Given the description of an element on the screen output the (x, y) to click on. 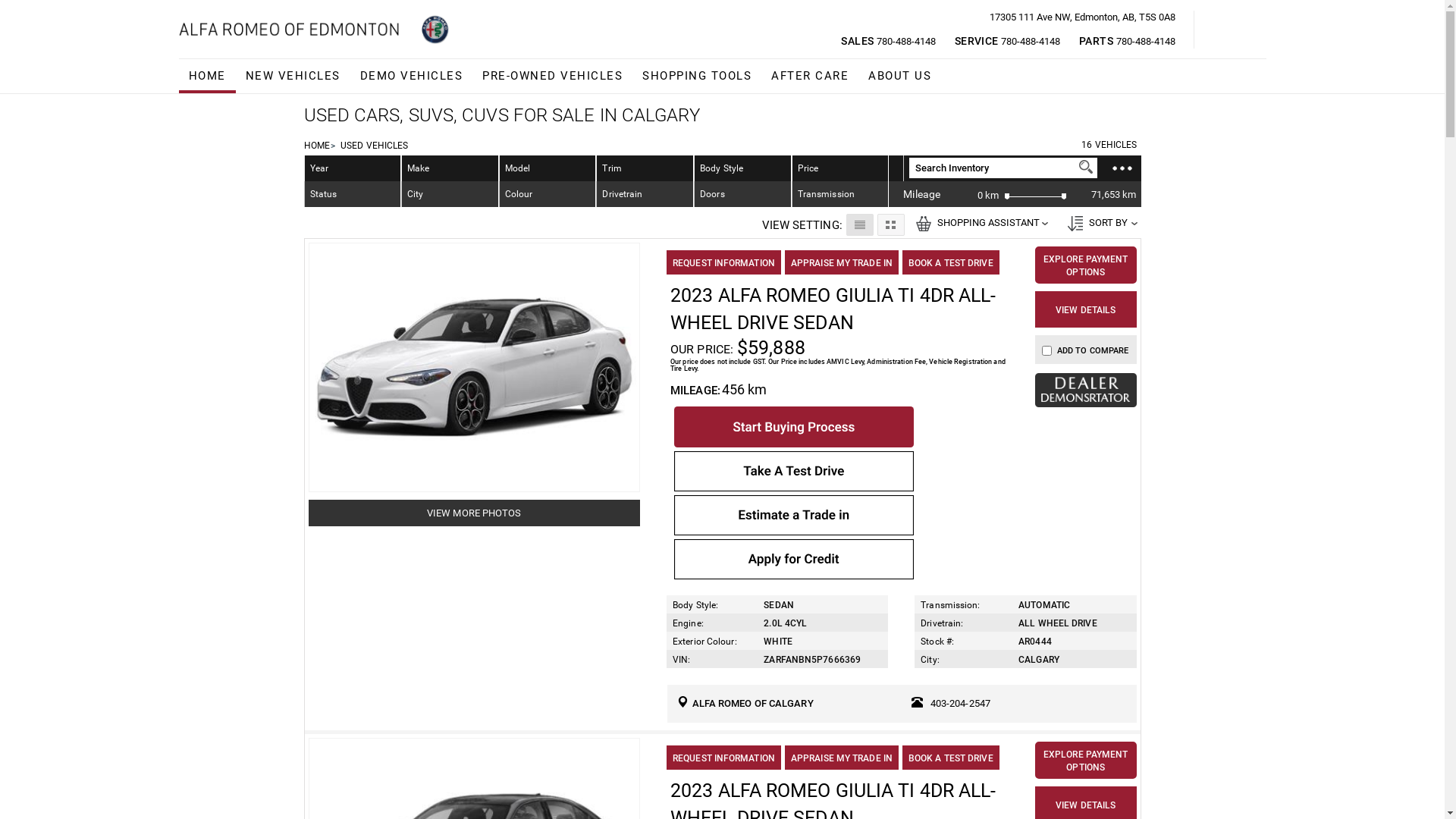
SALES 780-488-4148 Element type: text (887, 41)
https://www.facebook.com/AlfaRomeoEdmonton/ Element type: text (1220, 31)
SHOPPING ASSISTANT Element type: text (979, 222)
Grid View Element type: hover (890, 224)
Body Style Element type: text (742, 168)
VIEW MORE PHOTOS Element type: text (473, 512)
17305 111 Ave NW,
Edmonton, AB, T5S 0A8 Element type: text (428, 82)
unchecked Element type: text (1046, 350)
Search Element type: hover (1085, 166)
PRE-OWNED VEHICLES Element type: text (552, 76)
https://www.instagram.com/alfaromeoedmonton/ Element type: text (1238, 31)
APPRAISE MY TRADE IN Element type: text (841, 262)
AFTER CARE Element type: text (809, 76)
Price Element type: text (808, 168)
APPRAISE MY TRADE IN Element type: text (841, 757)
Model Element type: text (547, 168)
Shopping Assistant Element type: hover (923, 223)
DEMO VEHICLES Element type: text (411, 76)
Status Element type: text (352, 194)
Listing View Element type: hover (859, 224)
VIEW DETAILS Element type: text (1085, 309)
Doors Element type: text (742, 194)
SORT BY Element type: text (1099, 222)
17305 111 Ave NW,
Edmonton, AB, T5S 0A8 Element type: text (1081, 17)
Colour Element type: text (547, 194)
Trim Element type: text (644, 168)
NEW VEHICLES Element type: text (292, 76)
ABOUT US Element type: text (899, 76)
REQUEST INFORMATION Element type: text (723, 757)
REQUEST INFORMATION Element type: text (723, 262)
Transmission Element type: text (840, 194)
403-204-2547 Element type: text (960, 703)
SERVICE 780-488-4148 Element type: text (1007, 41)
SHOPPING TOOLS Element type: text (696, 76)
Make Element type: text (449, 168)
EXPLORE PAYMENT OPTIONS Element type: text (1085, 759)
EXPLORE PAYMENT OPTIONS Element type: text (1085, 264)
BOOK A TEST DRIVE Element type: text (950, 262)
2023 ALFA ROMEO GIULIA TI 4DR ALL-WHEEL DRIVE SEDAN Element type: text (832, 308)
PARTS 780-488-4148 Element type: text (1126, 41)
Sort By Element type: hover (1074, 223)
https://www.linkedin.com/company/alfa-romeo-of-edmonton/ Element type: text (1258, 31)
Drivetrain Element type: text (644, 194)
HOME Element type: text (206, 76)
BOOK A TEST DRIVE Element type: text (950, 757)
HOME Element type: text (316, 145)
City Element type: text (449, 194)
Year Element type: text (352, 168)
USED VEHICLES Element type: text (373, 145)
